Given the description of an element on the screen output the (x, y) to click on. 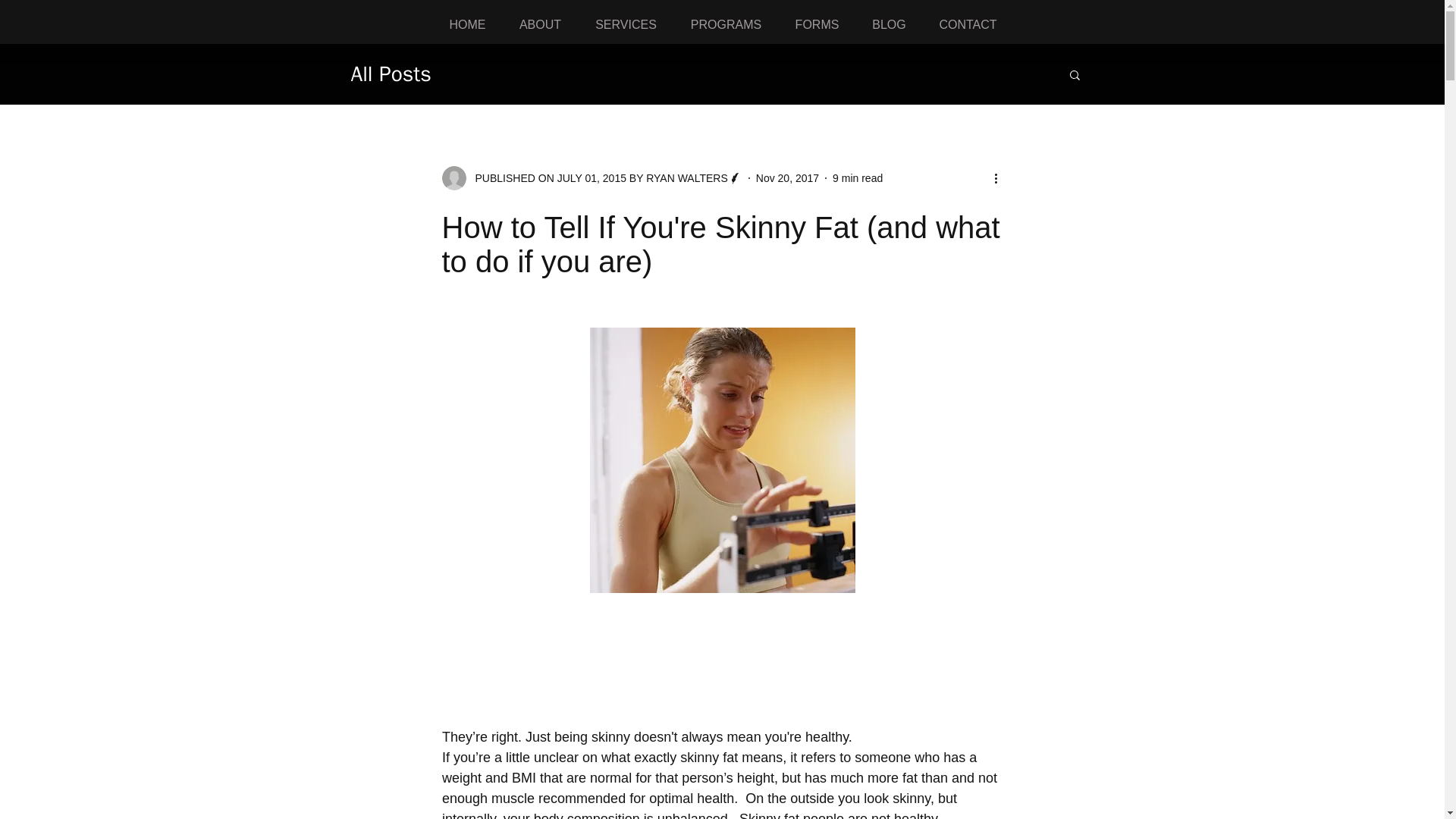
All Posts (390, 73)
BLOG (888, 24)
PUBLISHED ON JULY 01, 2015 BY RYAN WALTERS (595, 177)
HOME (467, 24)
FORMS (816, 24)
PUBLISHED ON JULY 01, 2015 BY RYAN WALTERS (591, 178)
Nov 20, 2017 (786, 177)
9 min read (857, 177)
CONTACT (967, 24)
